Given the description of an element on the screen output the (x, y) to click on. 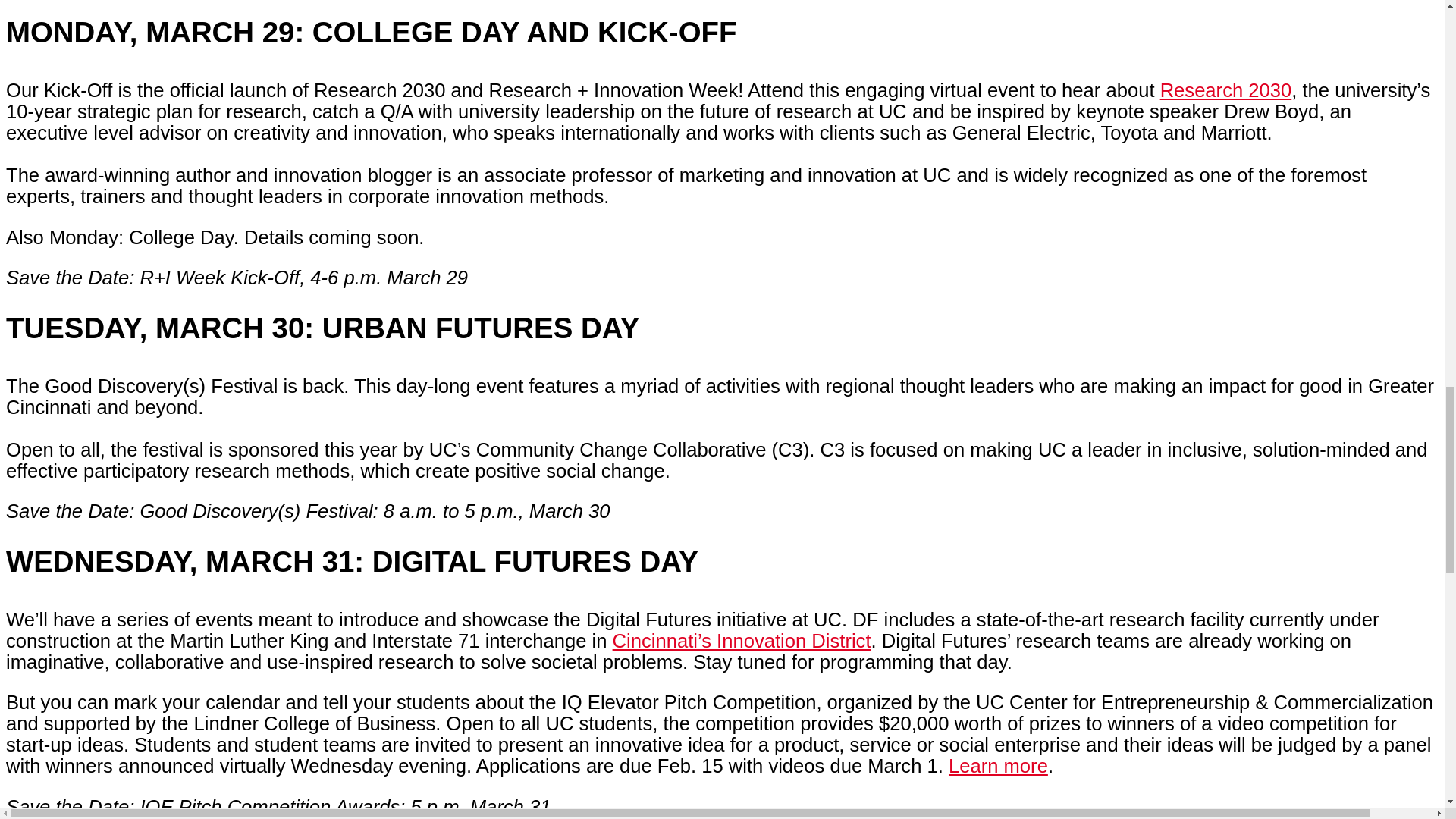
Learn more (998, 765)
Research 2030 (1226, 89)
